Given the description of an element on the screen output the (x, y) to click on. 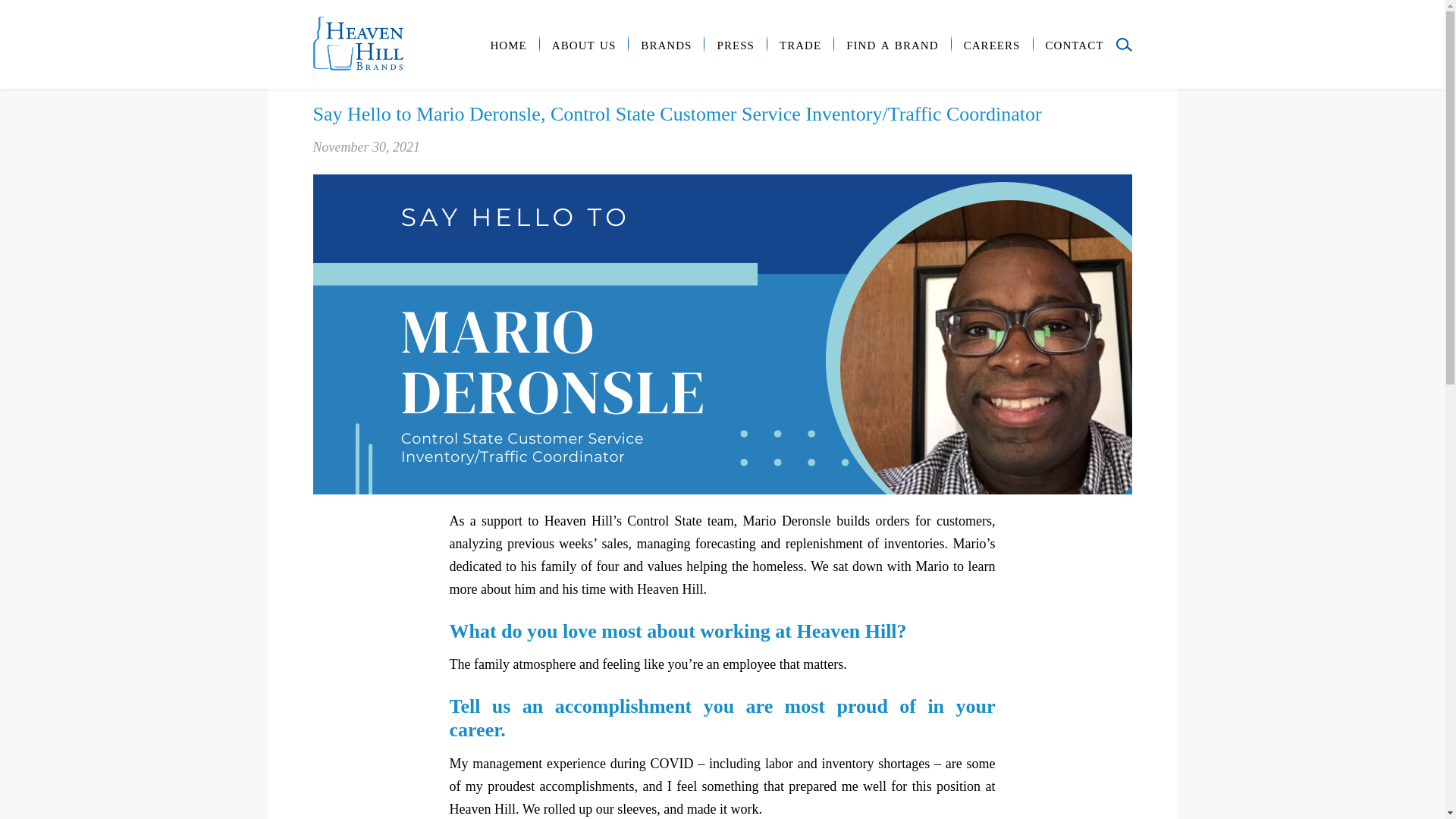
home (507, 44)
trade (799, 44)
about us (583, 44)
press (735, 44)
search (1124, 44)
careers (991, 44)
contact (1074, 44)
find a brand (891, 44)
brands (665, 44)
